Given the description of an element on the screen output the (x, y) to click on. 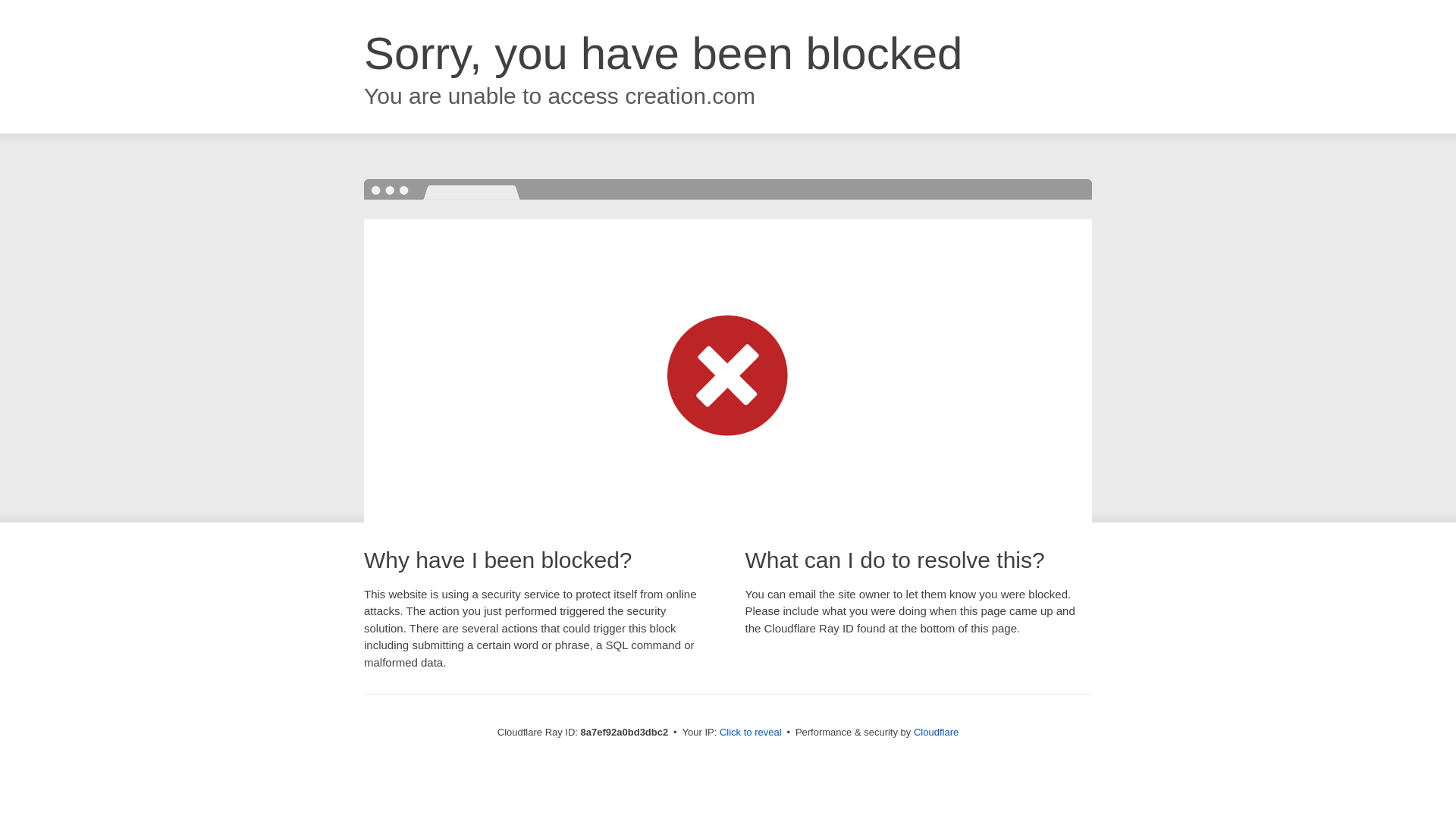
Click to reveal (750, 732)
Cloudflare (936, 731)
